Given the description of an element on the screen output the (x, y) to click on. 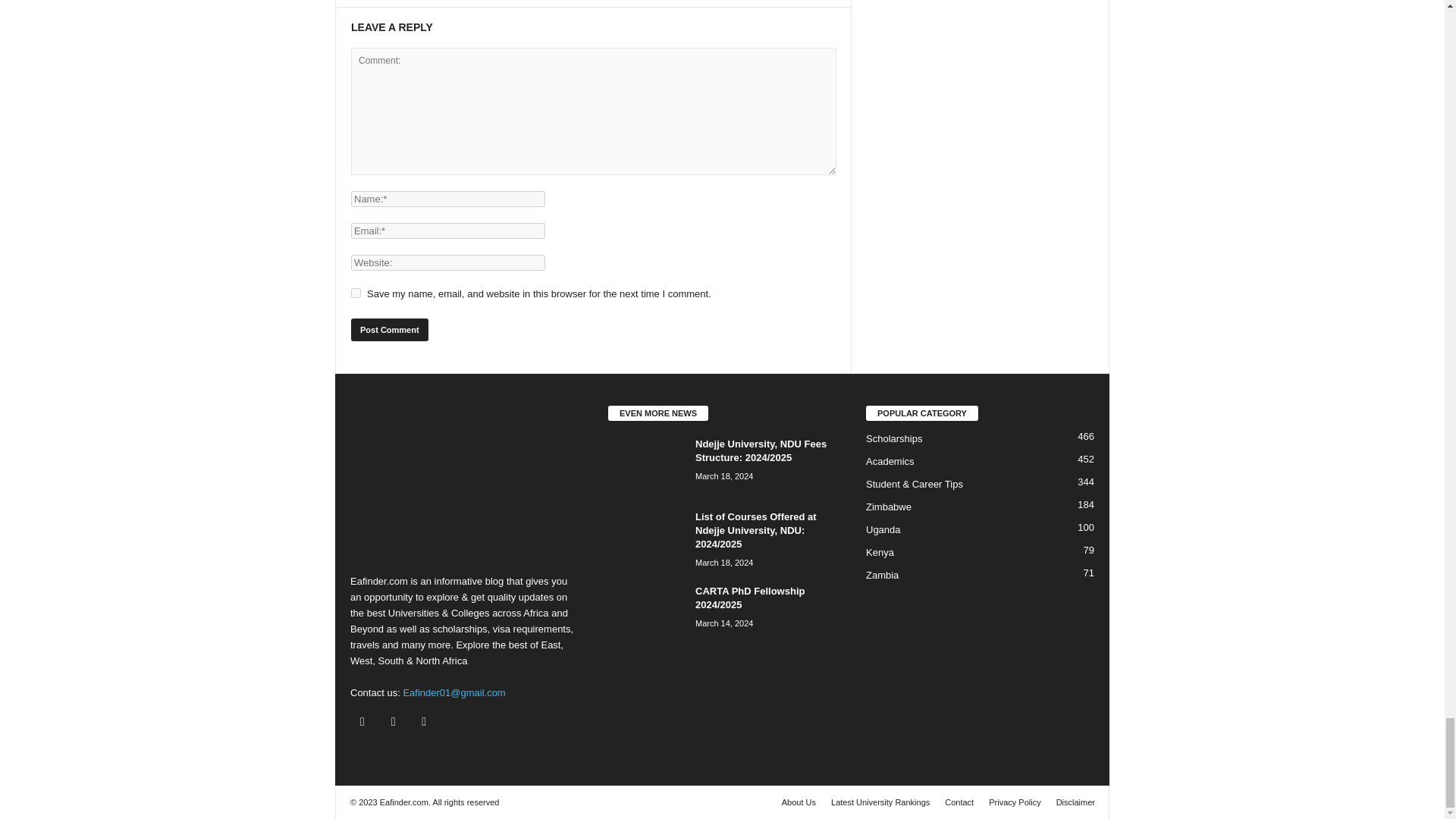
yes (355, 293)
Post Comment (389, 329)
